Given the description of an element on the screen output the (x, y) to click on. 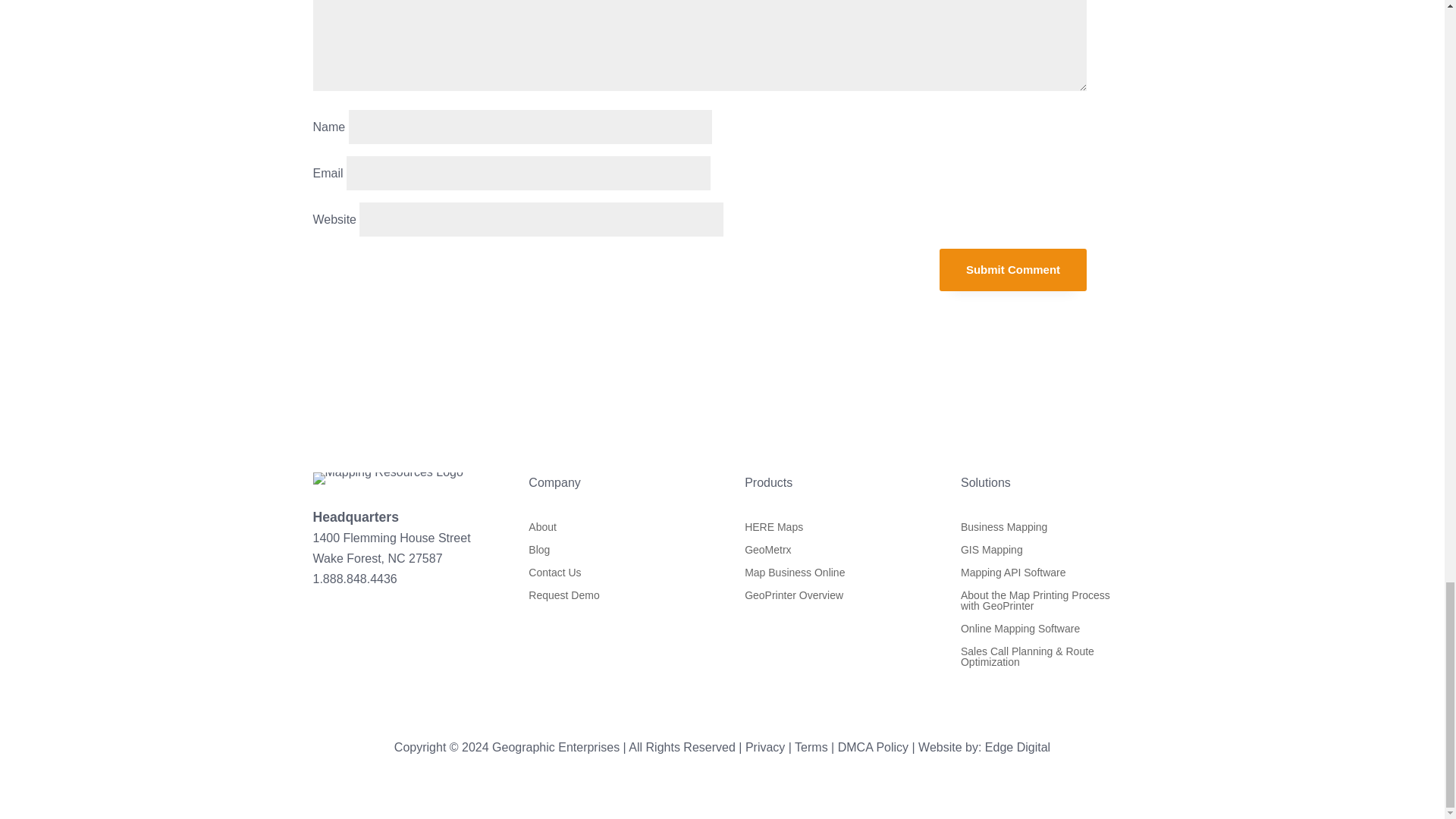
Follow on Youtube (354, 623)
Follow on LinkedIn (324, 623)
Submit Comment (1012, 269)
